Given the description of an element on the screen output the (x, y) to click on. 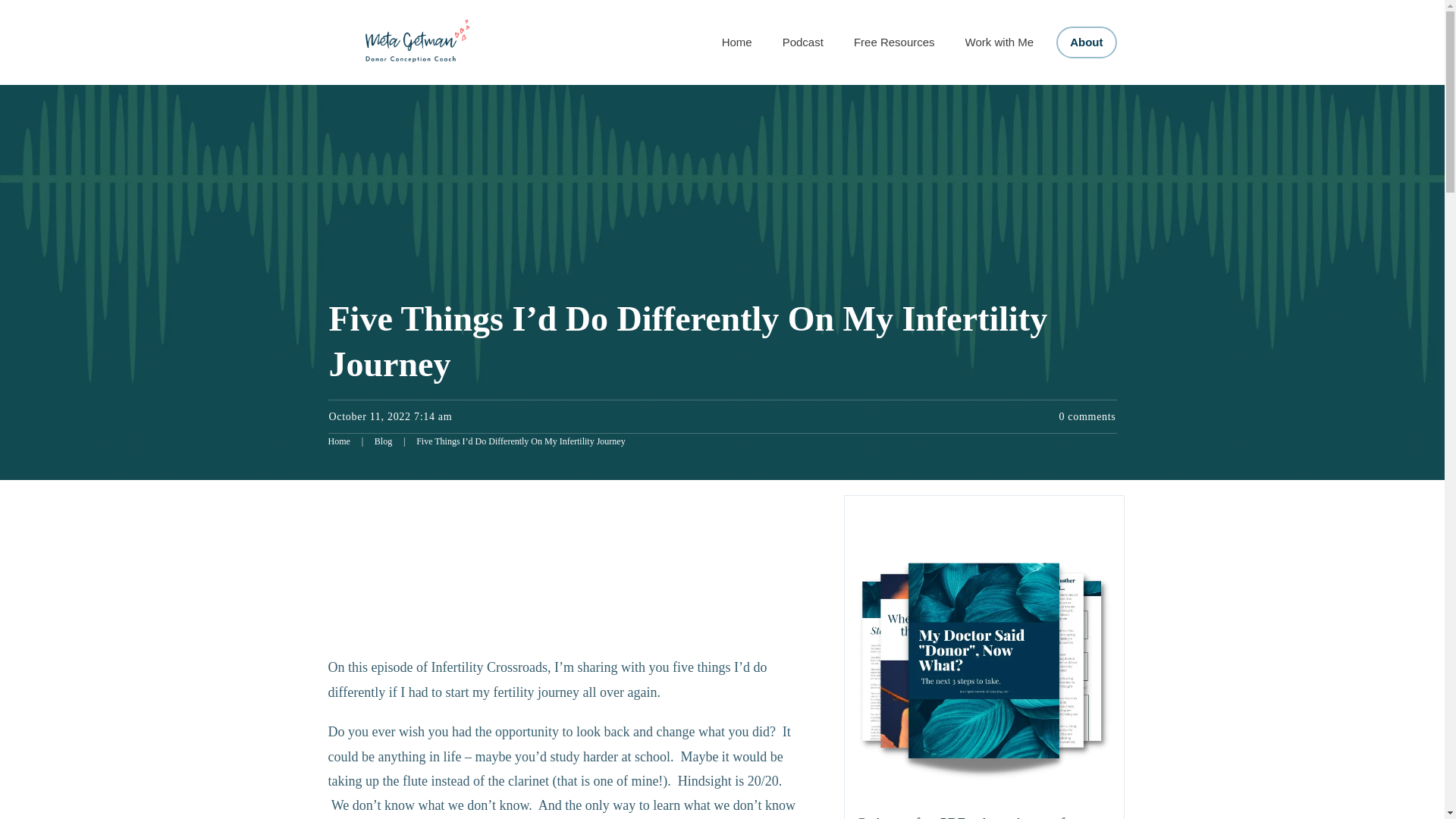
Work with Me (999, 42)
Doctor Said Donor Mock Up (983, 665)
About (1086, 42)
Home (338, 442)
Home (737, 42)
Podcast (803, 42)
Blog (382, 442)
Free Resources (893, 42)
